Given the description of an element on the screen output the (x, y) to click on. 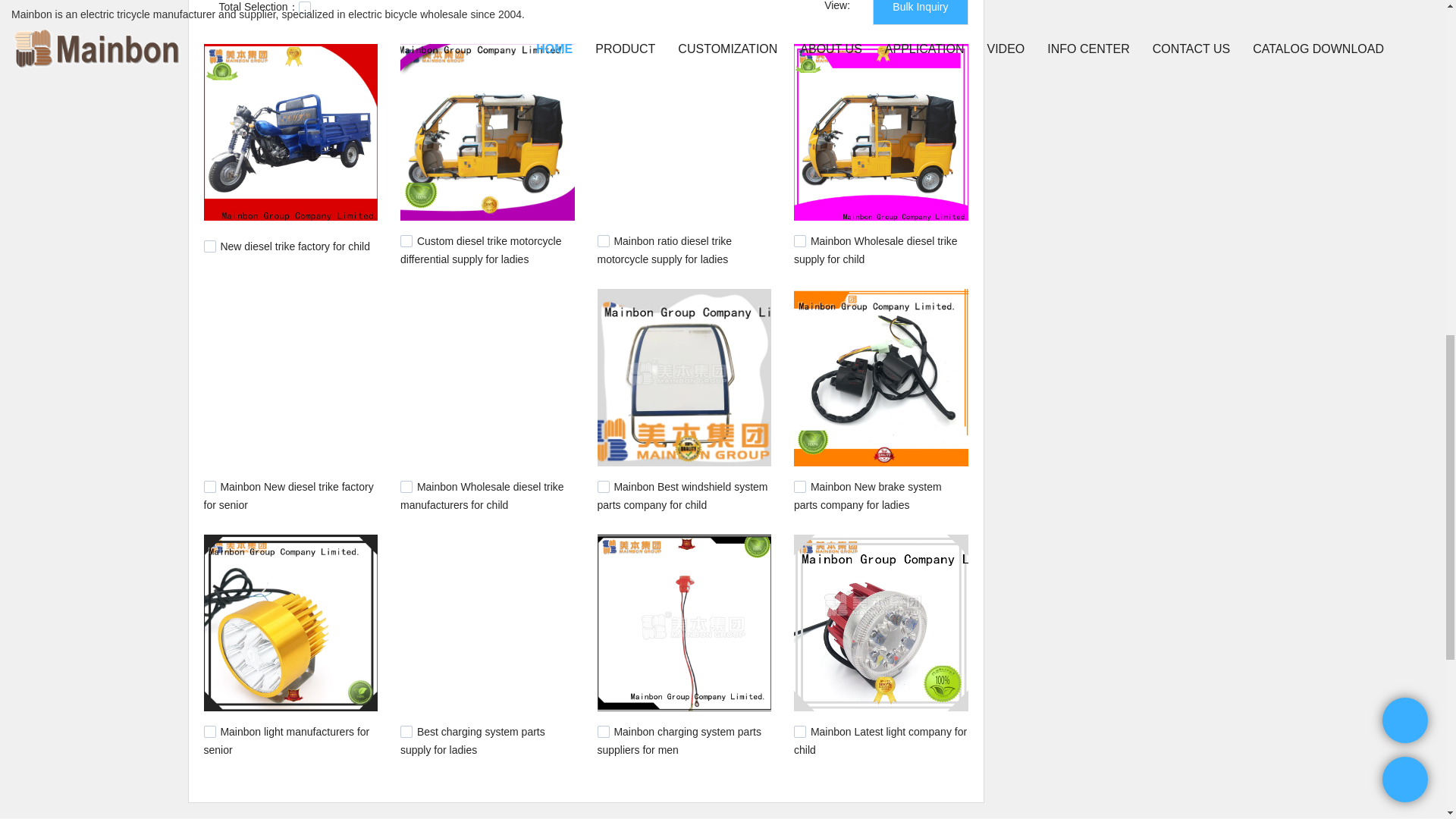
Mainbon Wholesale diesel trike supply for child (875, 250)
6141 (406, 241)
Best charging system parts supply for ladies (472, 740)
Mainbon New diesel trike factory for senior (287, 495)
Mainbon Latest light company for child (879, 740)
Mainbon New brake system parts company for ladies (867, 495)
4109 (603, 731)
Mainbon Wholesale diesel trike manufacturers for child (482, 495)
6147 (209, 246)
5988 (799, 241)
